Given the description of an element on the screen output the (x, y) to click on. 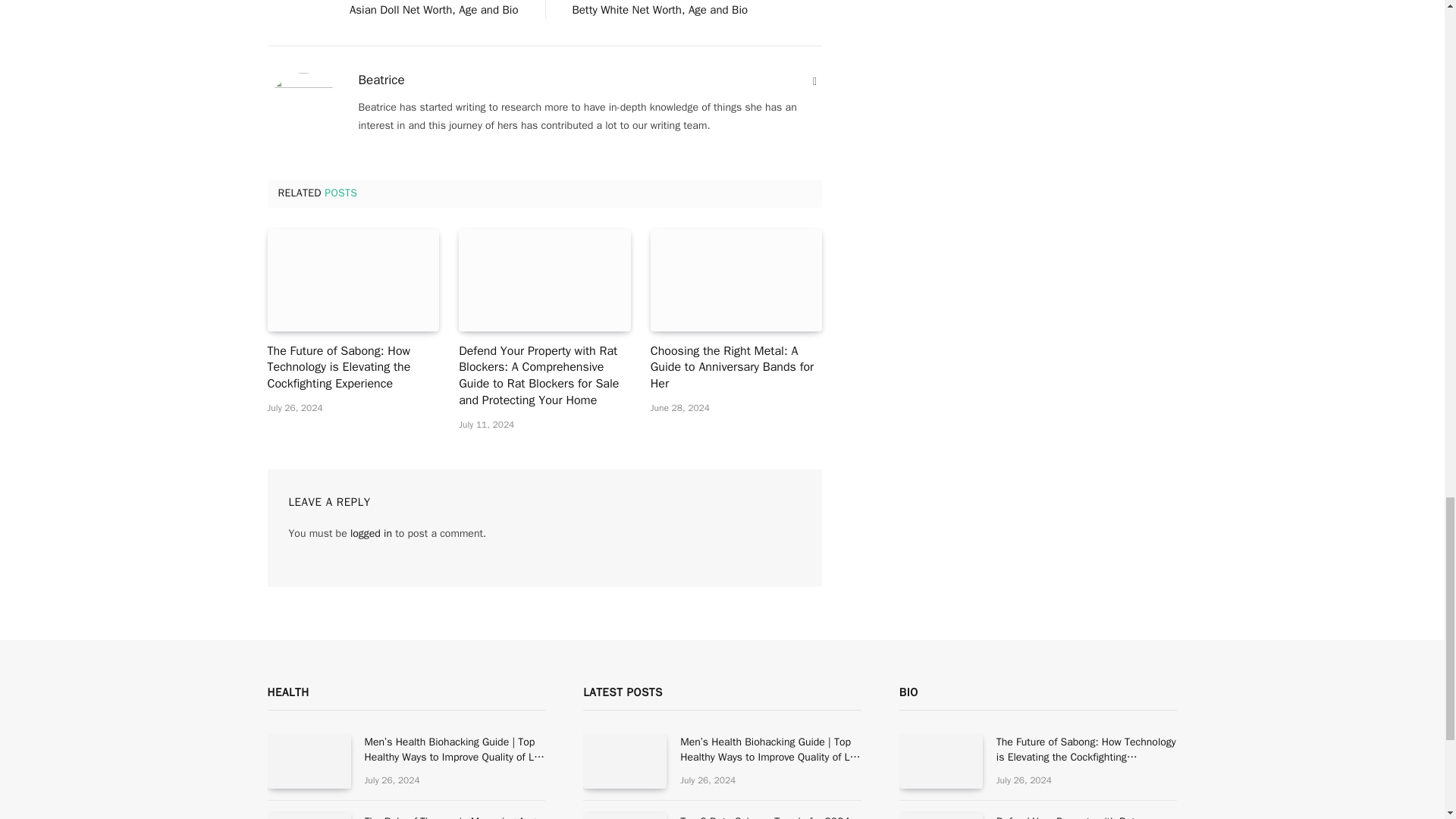
Asian Doll Net Worth, Age and Bio (433, 9)
Betty White Net Worth, Age and Bio (660, 9)
Website (814, 81)
Beatrice (381, 79)
